Given the description of an element on the screen output the (x, y) to click on. 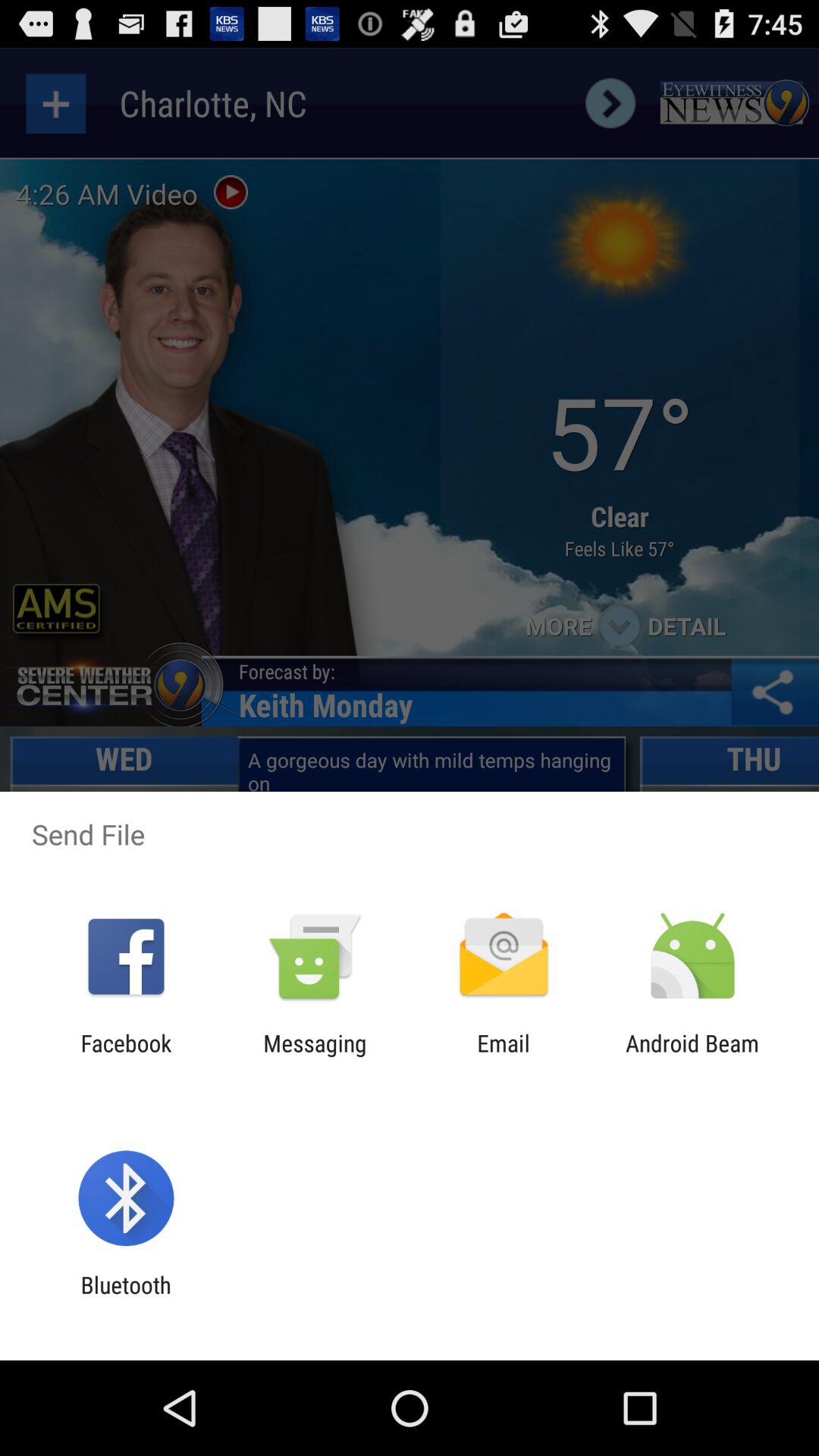
choose item next to the android beam (503, 1056)
